Given the description of an element on the screen output the (x, y) to click on. 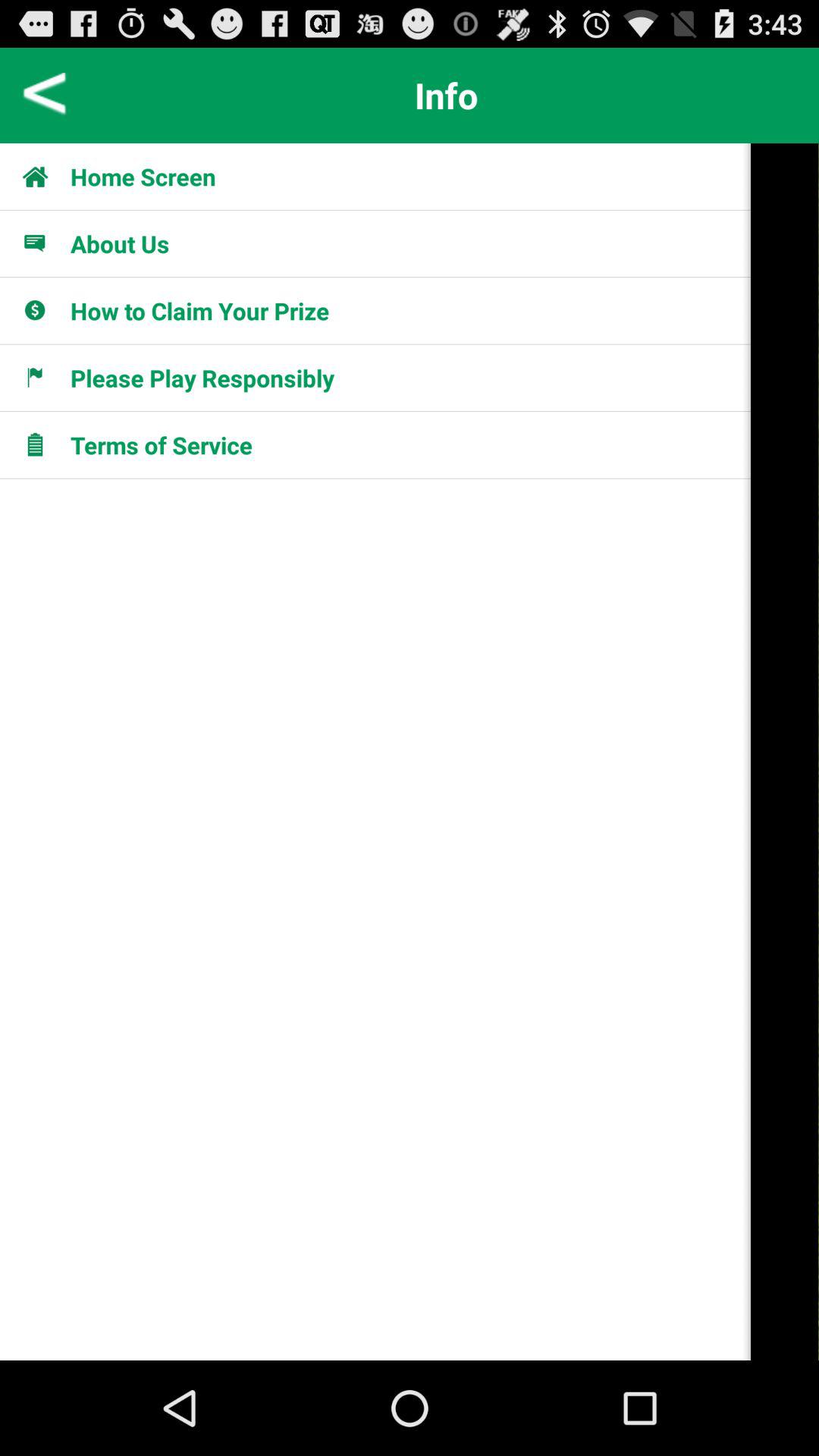
choose icon to the left of the home screen app (43, 176)
